Given the description of an element on the screen output the (x, y) to click on. 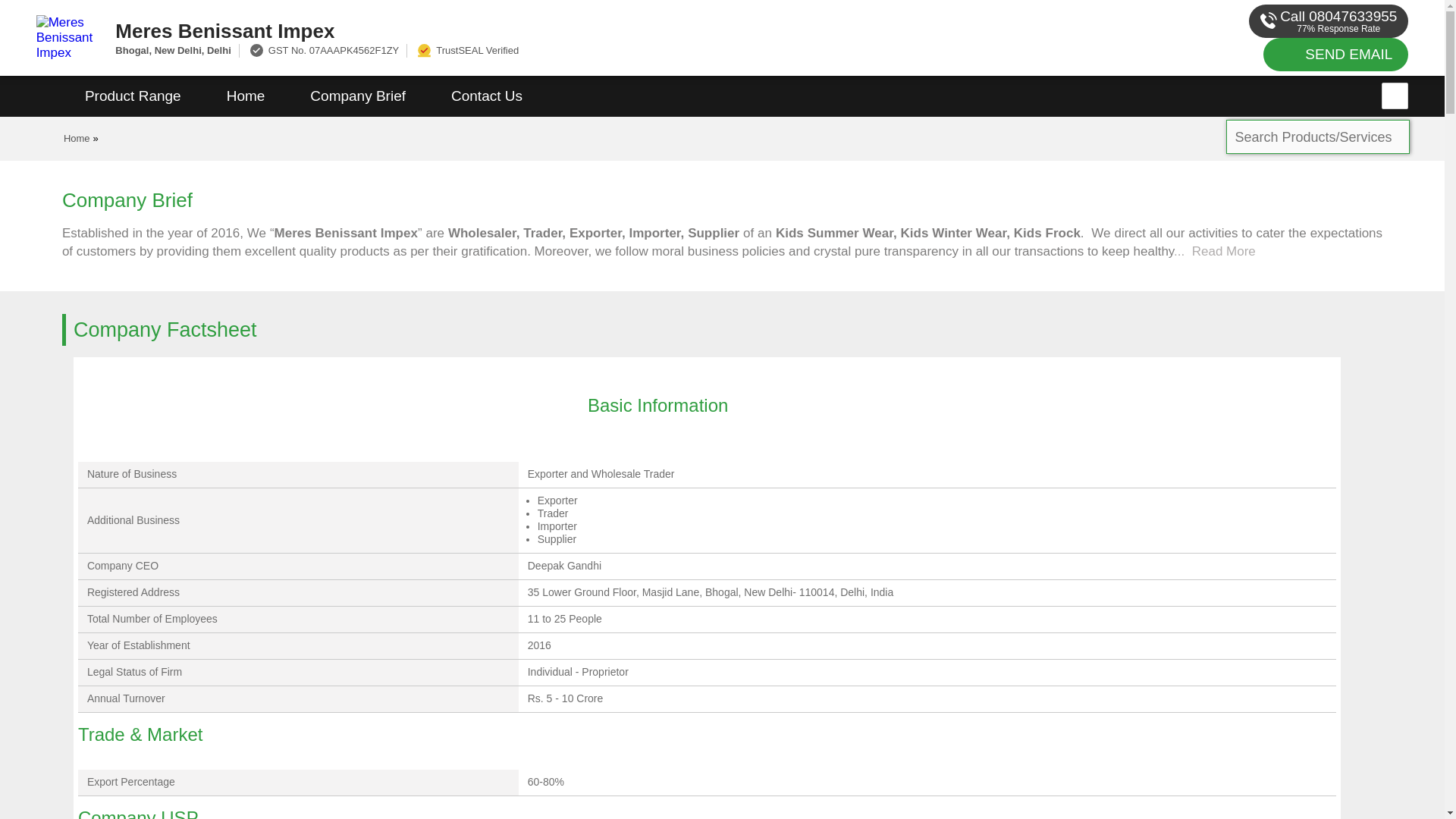
Home (245, 96)
Contact Us (486, 96)
Meres Benissant Impex (552, 31)
Company Brief (357, 96)
Product Range (132, 96)
Home (77, 138)
